Given the description of an element on the screen output the (x, y) to click on. 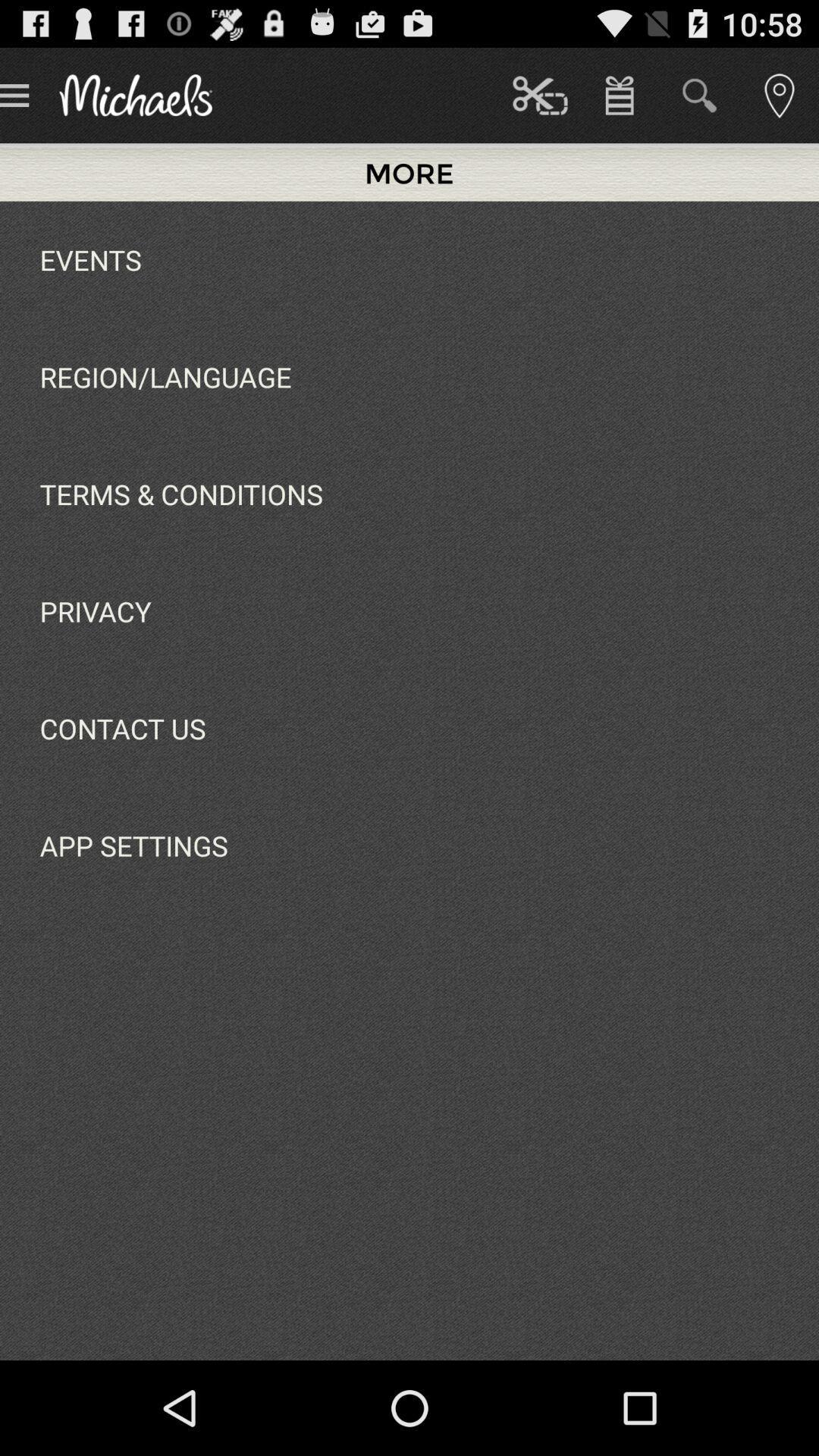
click the app above the region/language app (90, 259)
